Given the description of an element on the screen output the (x, y) to click on. 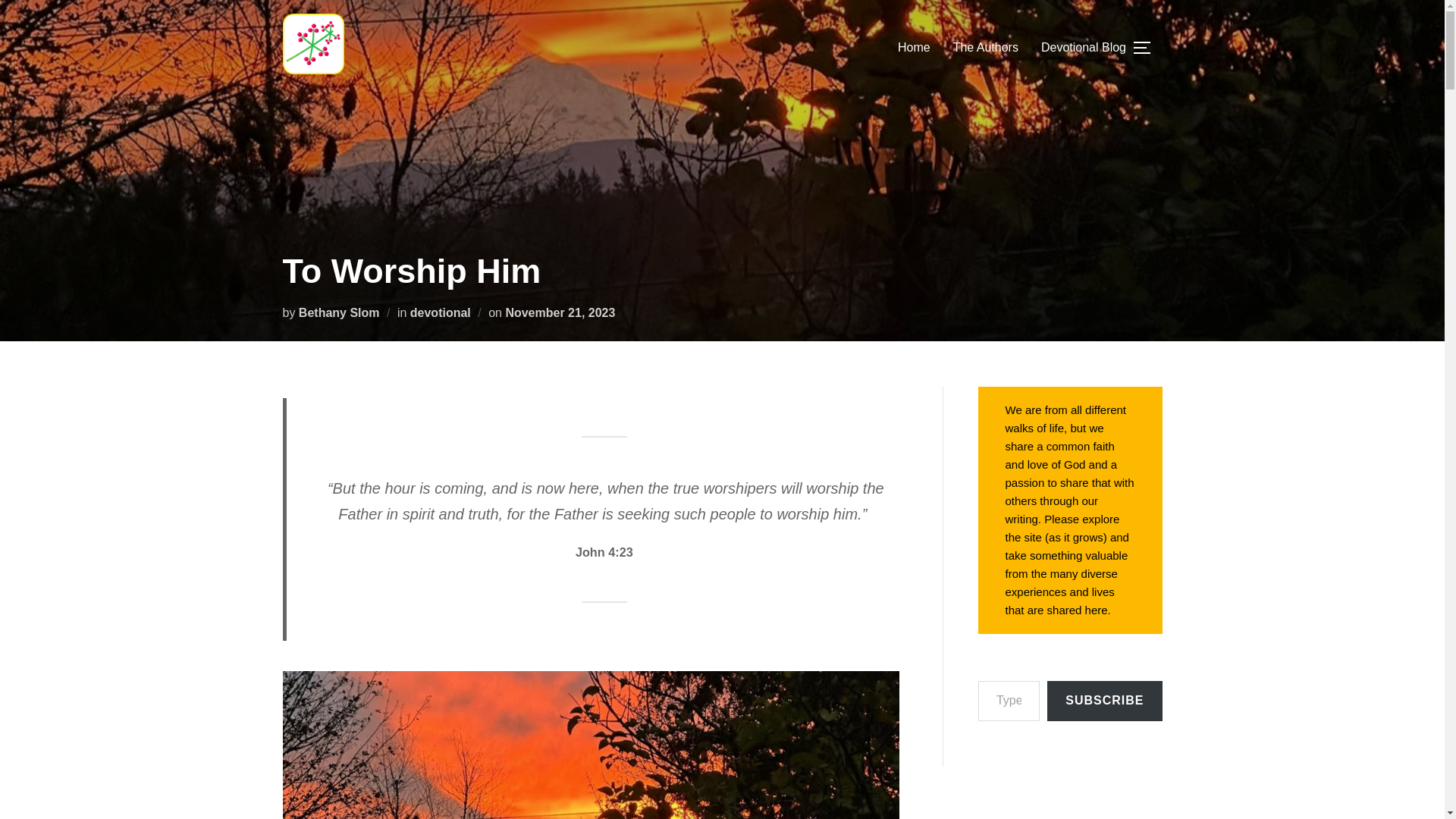
Home (914, 47)
Devotional Blog (1083, 47)
Bethany Slom (339, 312)
The Authors (985, 47)
November 21, 2023 (559, 312)
SUBSCRIBE (1103, 700)
devotional (440, 312)
